Given the description of an element on the screen output the (x, y) to click on. 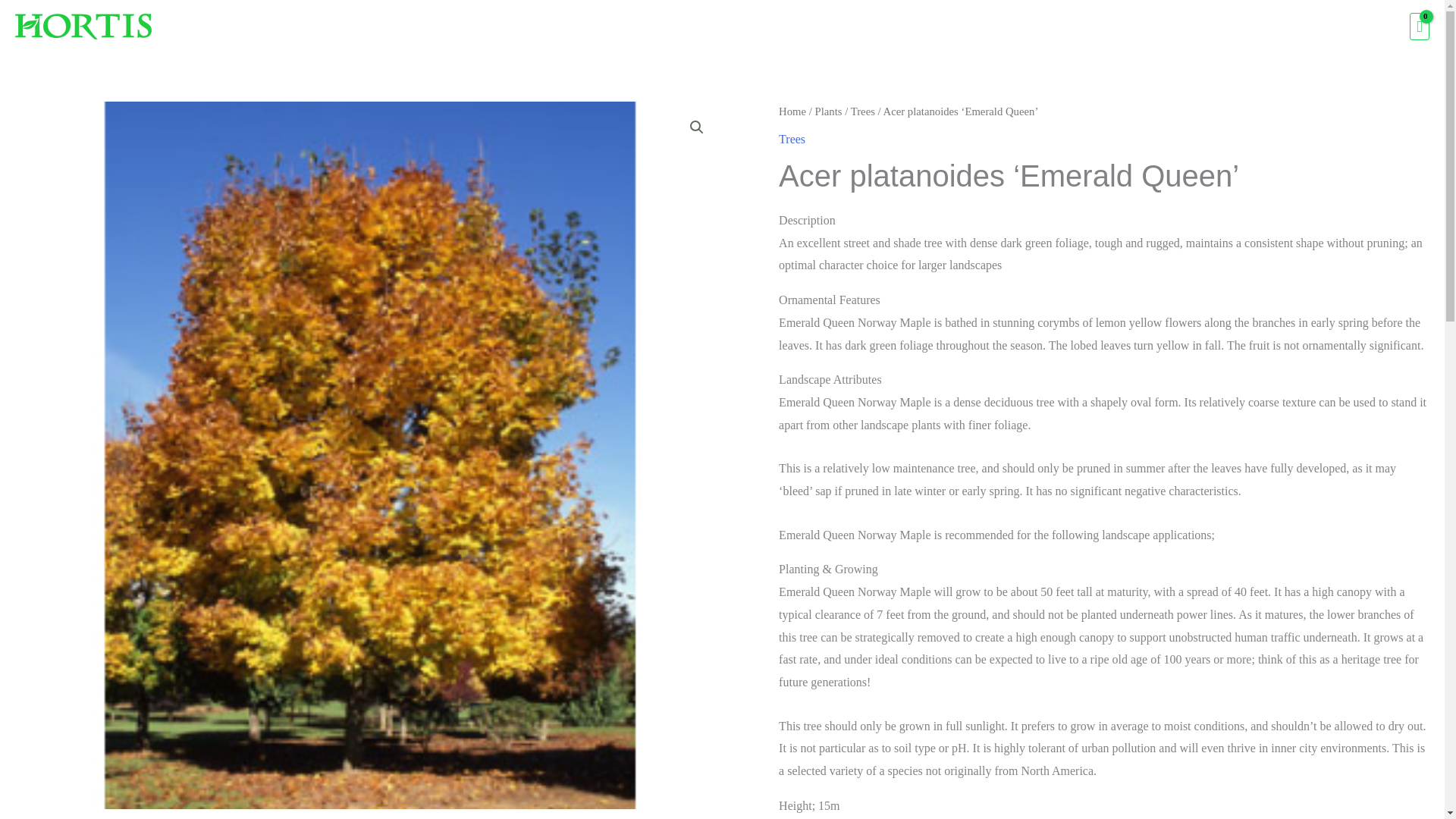
Clothes (1216, 26)
Hardgoods (1136, 26)
Plants (1061, 26)
Info (1327, 26)
Bulk (1276, 26)
